Given the description of an element on the screen output the (x, y) to click on. 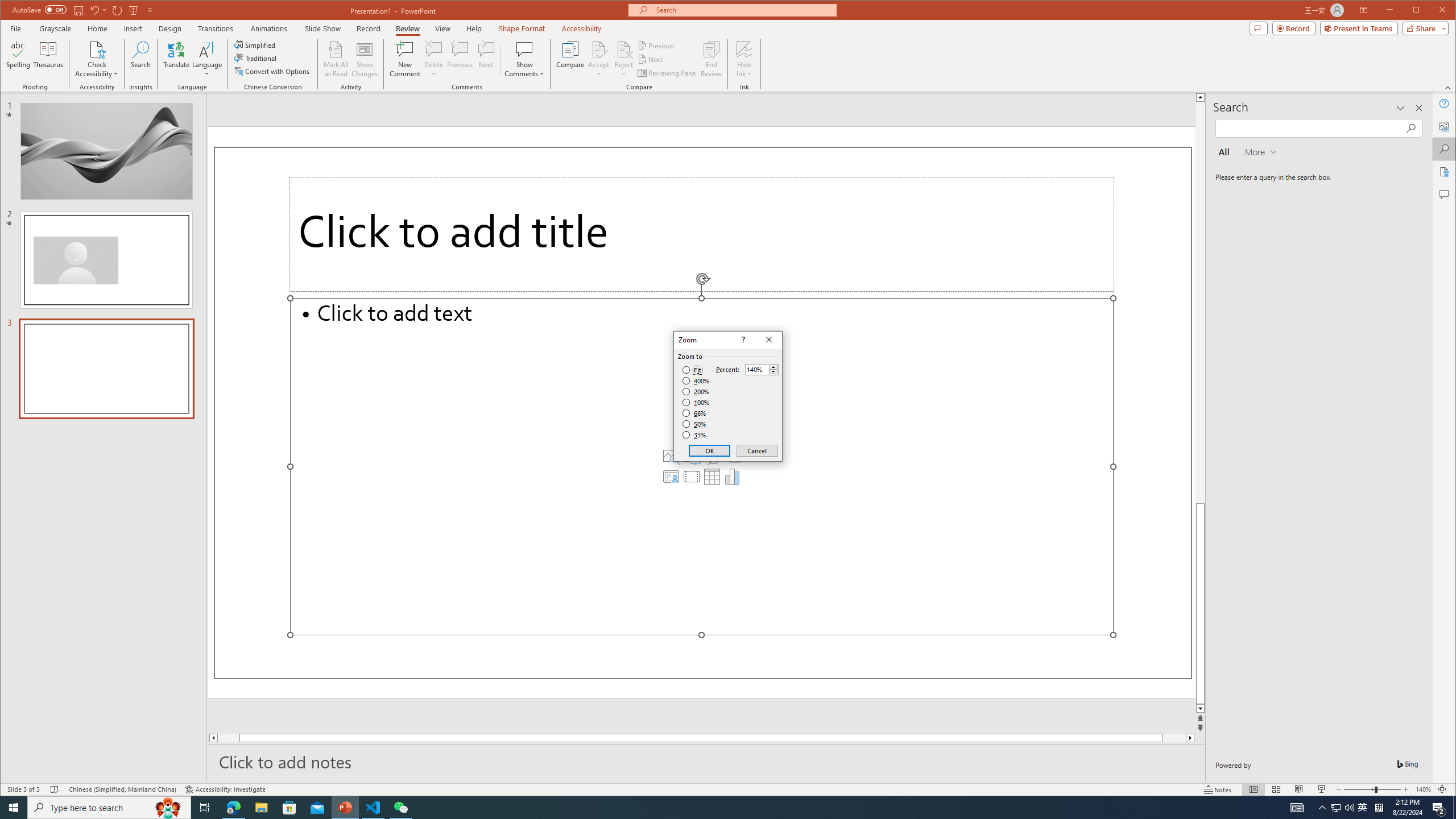
Reviewing Pane (667, 72)
50% (694, 424)
Zoom 140% (1422, 789)
100% (696, 402)
Reject (623, 59)
